Given the description of an element on the screen output the (x, y) to click on. 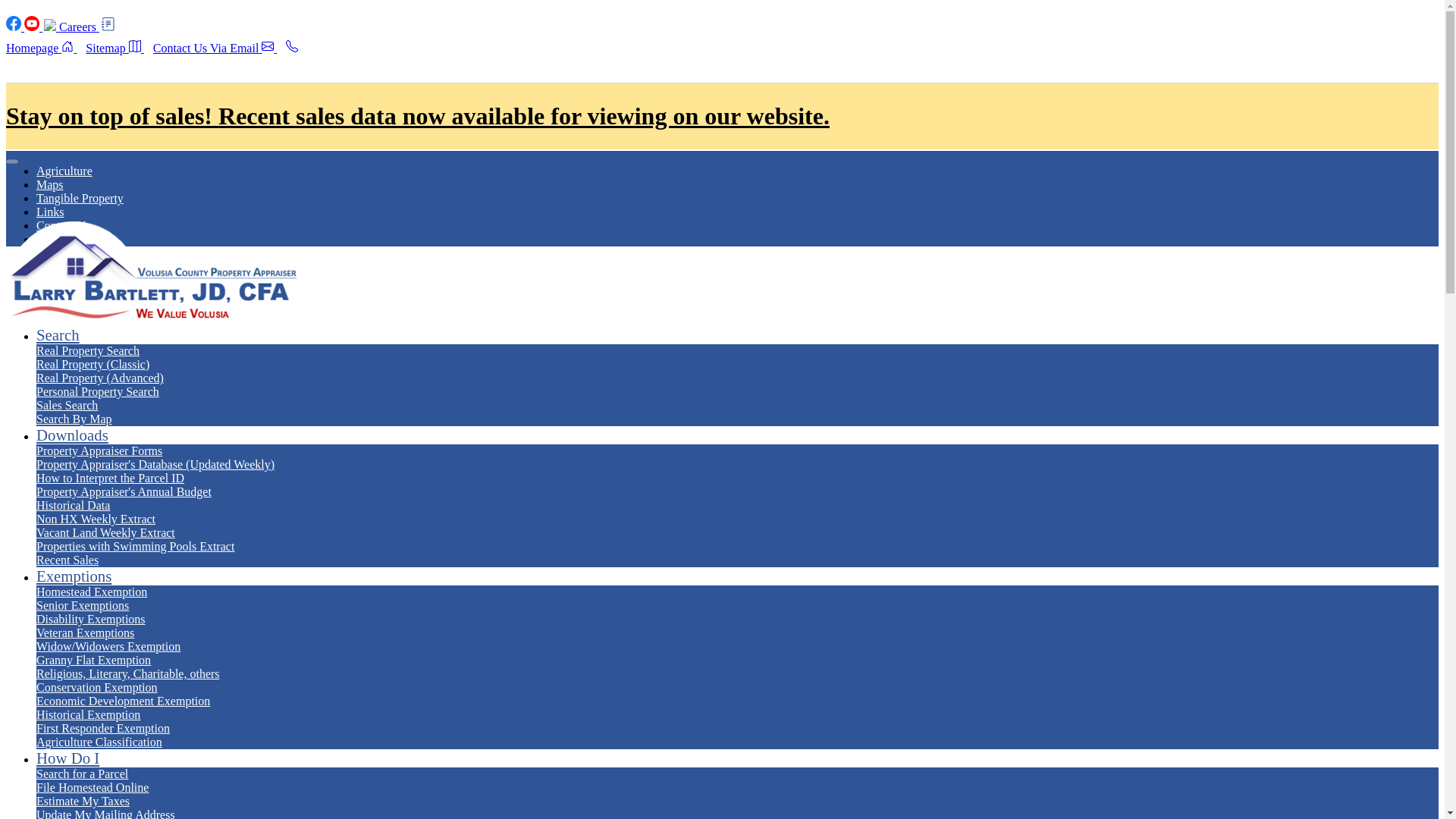
Recent Sales (67, 559)
Sales Search (66, 404)
Exemptions (74, 575)
Contact Us (63, 225)
Downloads (71, 434)
Search (58, 334)
Agriculture (64, 170)
Disability Exemptions (90, 618)
Careers (87, 26)
Personal Property Search (97, 391)
Real Property Search (87, 350)
Locations (60, 238)
Historical Data (73, 504)
Search By Map (74, 418)
Tangible Property (79, 197)
